Given the description of an element on the screen output the (x, y) to click on. 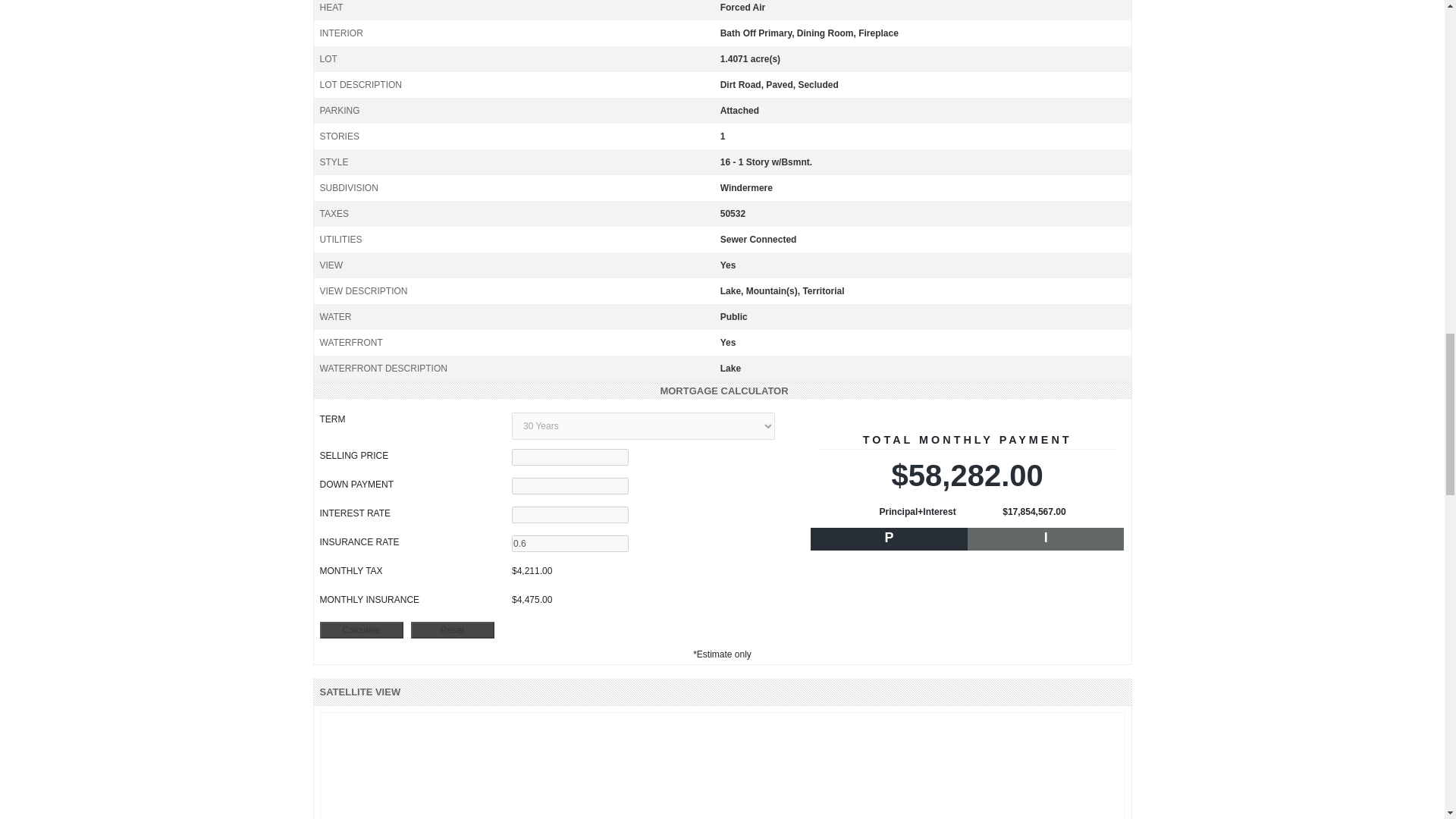
Reset (452, 629)
Calculate (361, 629)
0.6 (570, 543)
